Given the description of an element on the screen output the (x, y) to click on. 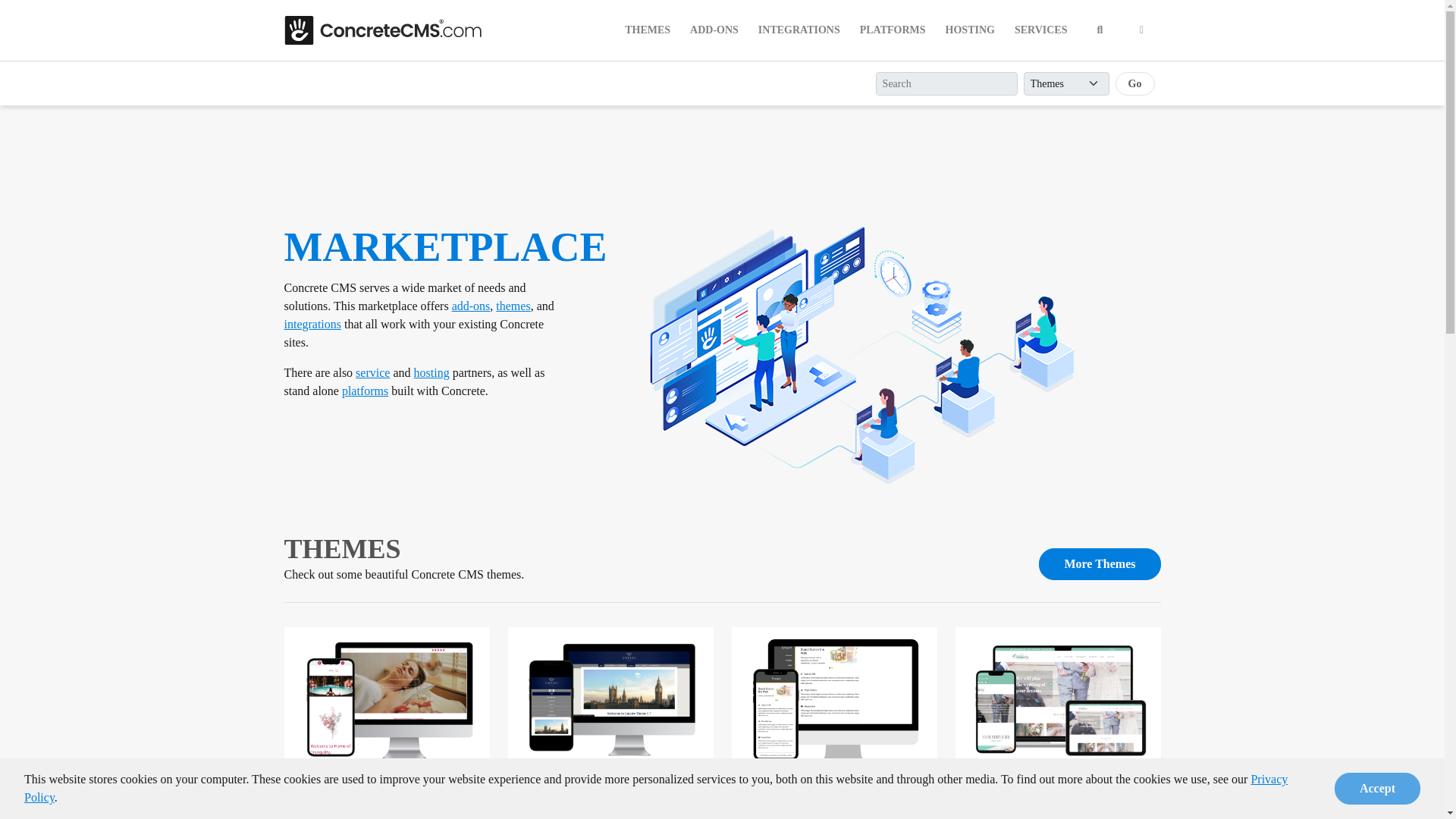
Accept (1378, 795)
More Themes (1099, 563)
integrations (311, 323)
CRISTA (320, 780)
ENCANT (771, 780)
hosting (431, 372)
add-ons (470, 305)
platforms (365, 390)
INTEGRATIONS (798, 30)
themes (512, 305)
HOSTING (970, 30)
service (372, 372)
ETERNITY (1003, 780)
PLATFORMS (892, 30)
Search (1100, 30)
